Given the description of an element on the screen output the (x, y) to click on. 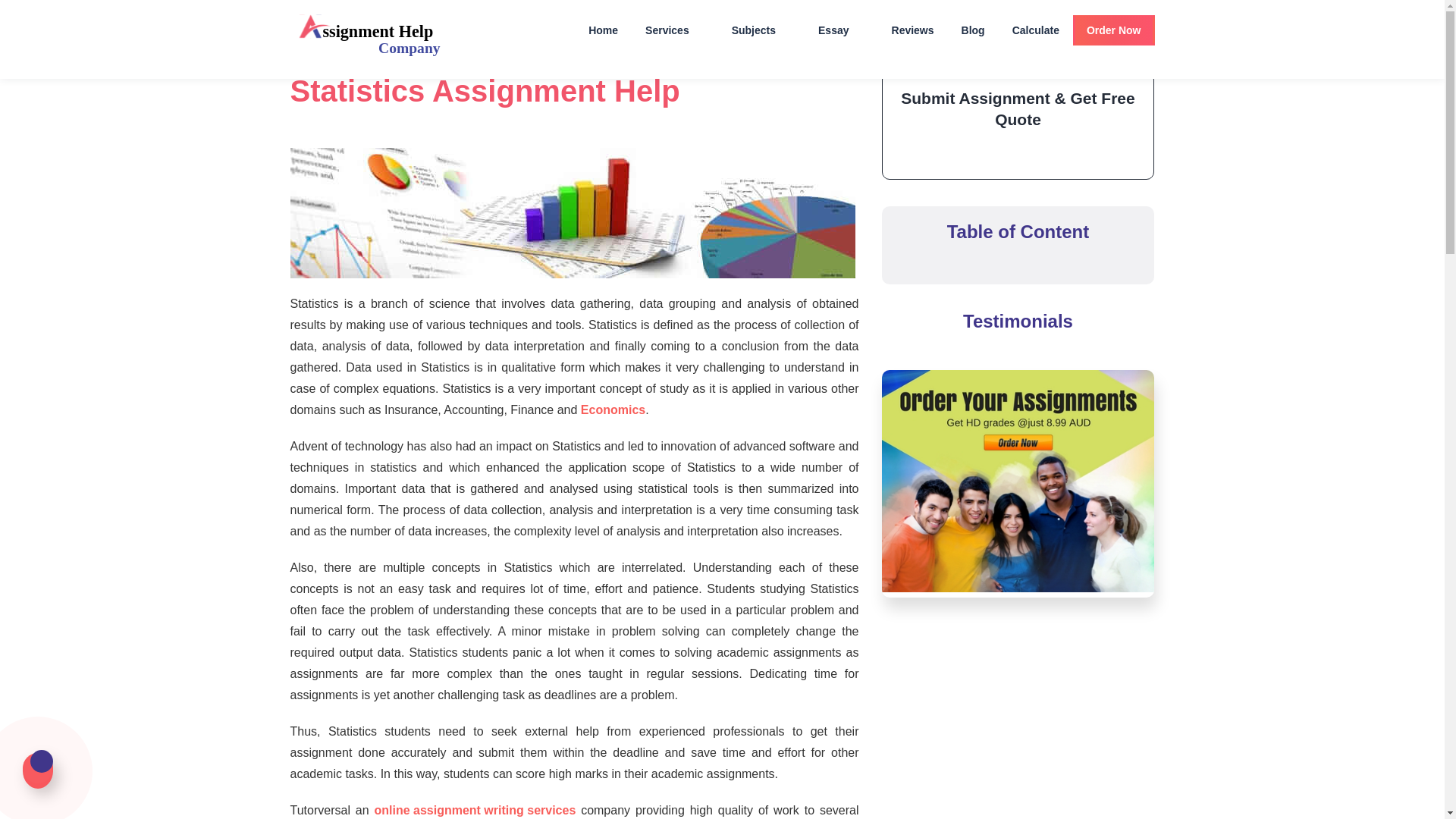
Essay (841, 30)
Subjects (761, 30)
Home (603, 30)
Services (674, 30)
